Given the description of an element on the screen output the (x, y) to click on. 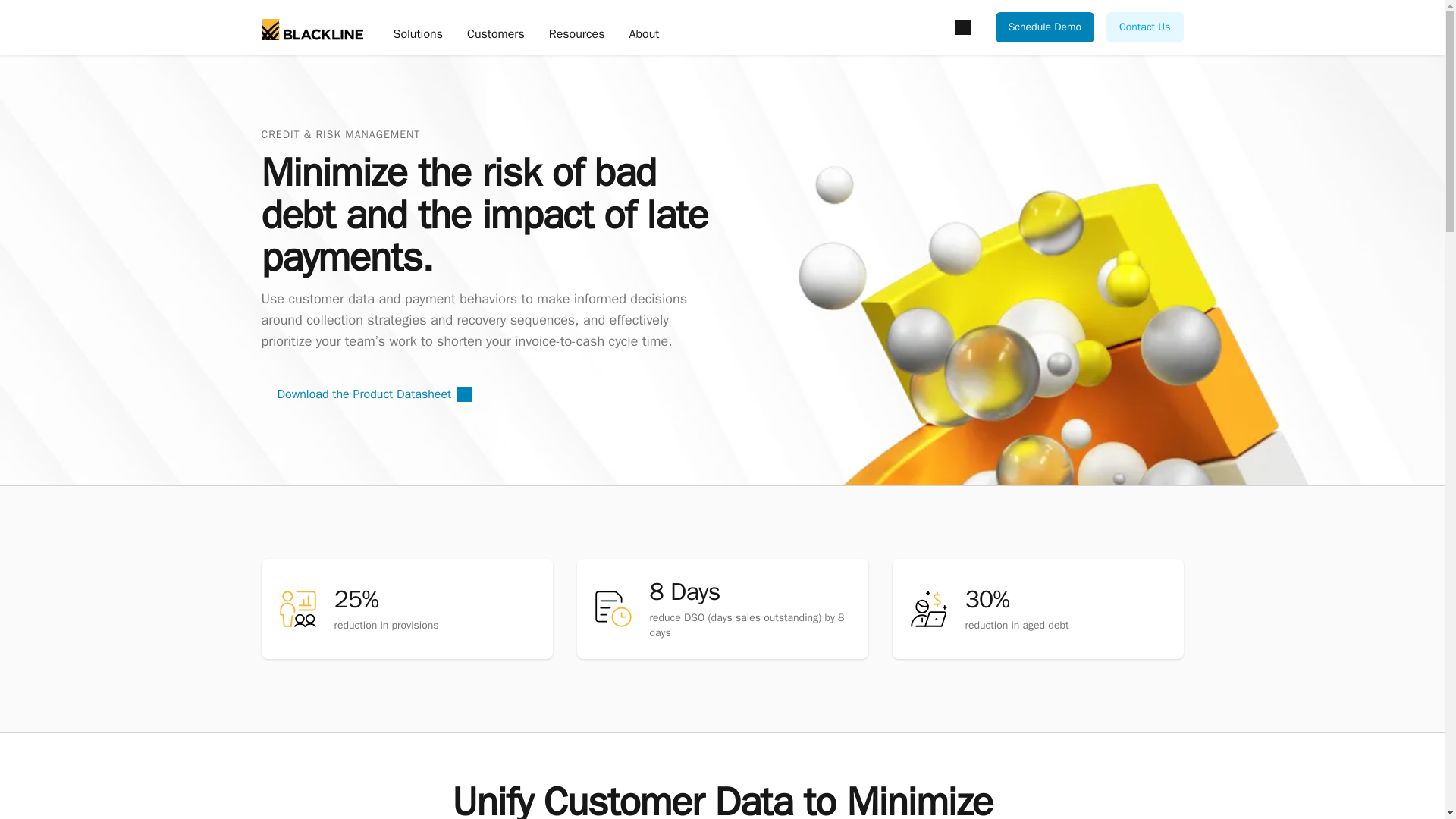
Contact Us (1144, 27)
Customers (495, 34)
Resources (576, 34)
Solutions (417, 34)
Schedule Demo (1044, 27)
Download the Product Datasheet (373, 393)
